Given the description of an element on the screen output the (x, y) to click on. 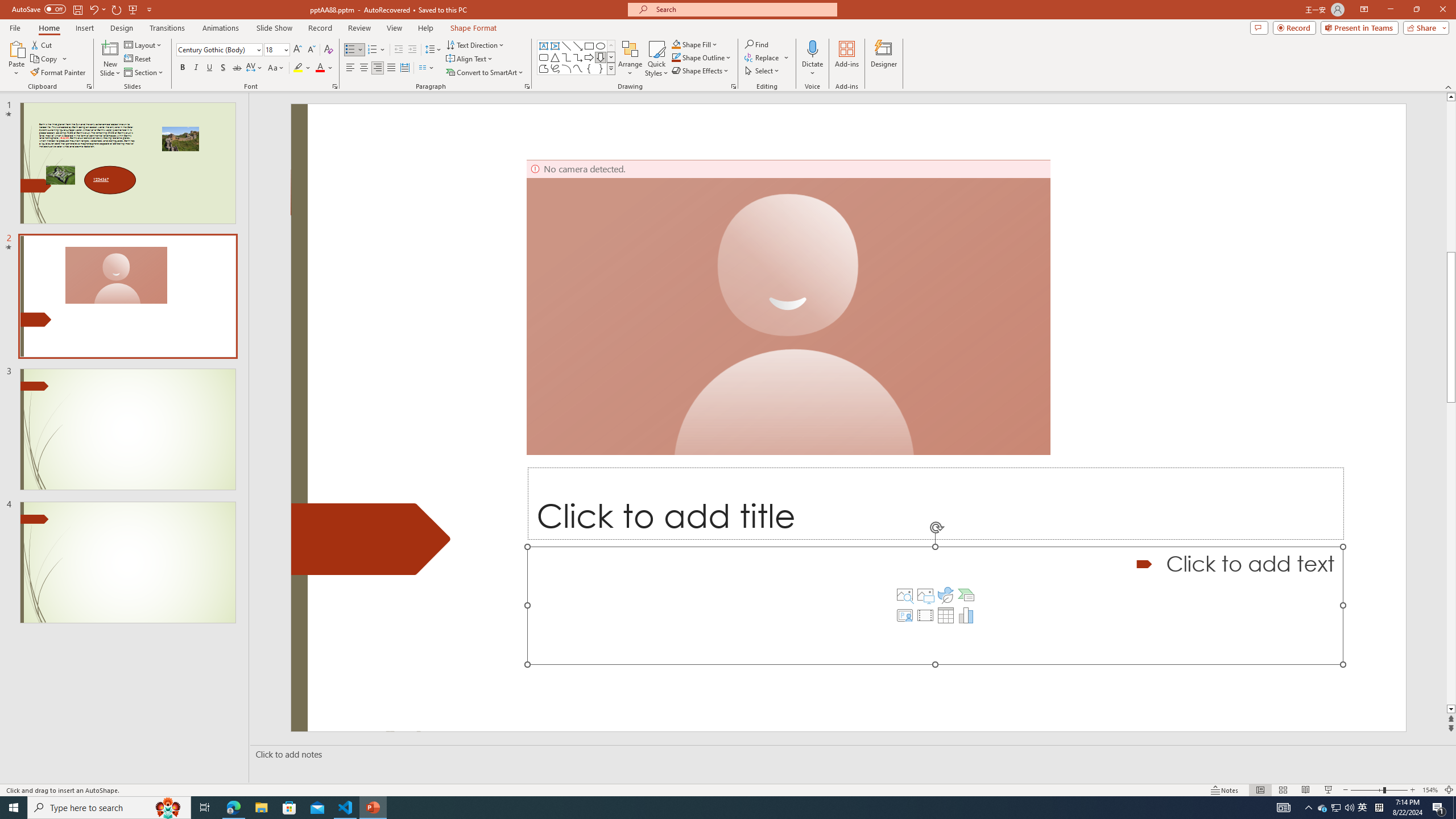
Camera 7, No camera detected. (788, 307)
Decorative Locked (370, 538)
